Given the description of an element on the screen output the (x, y) to click on. 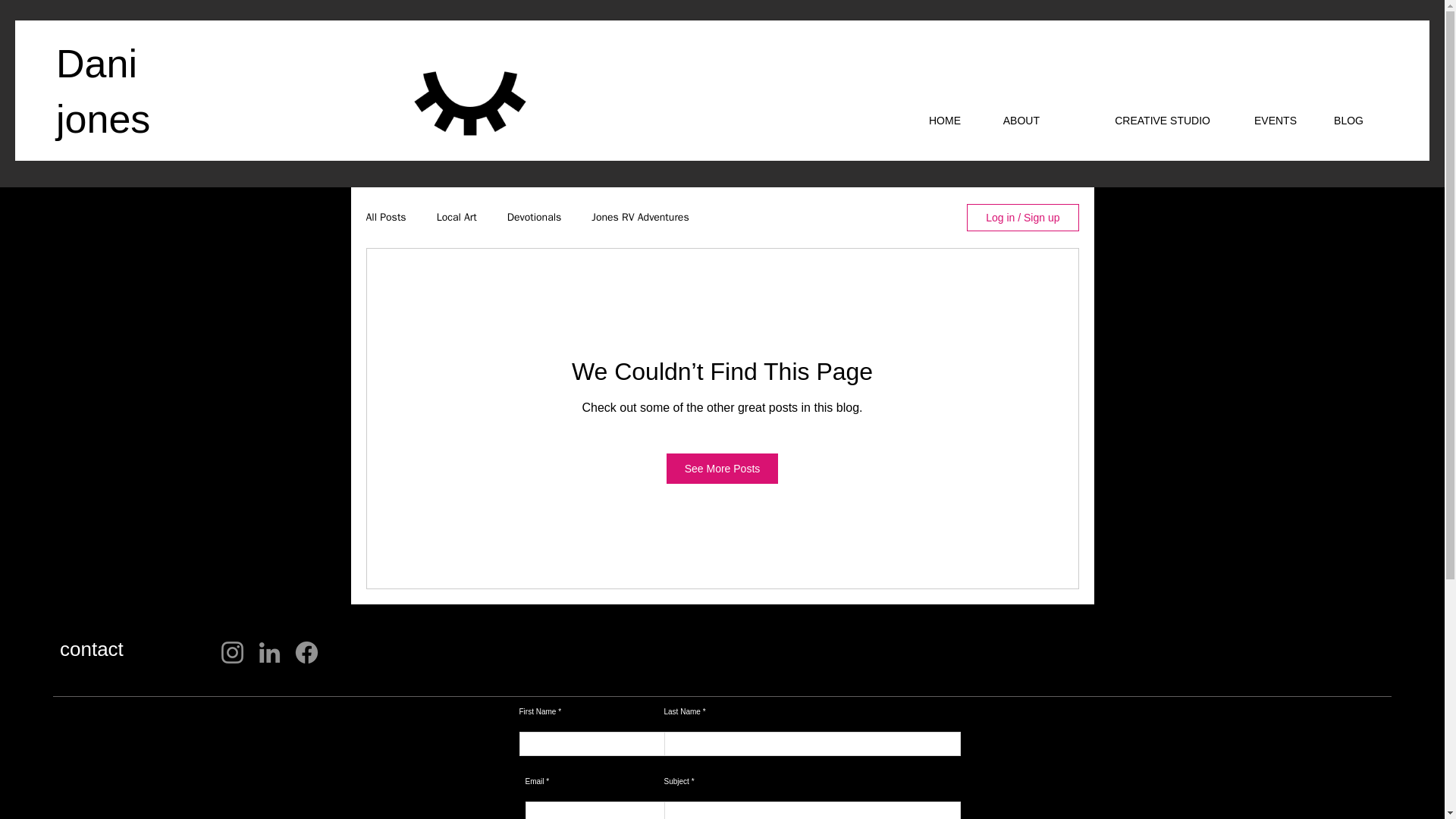
ABOUT (1011, 120)
Dani (96, 63)
Jones RV Adventures (639, 217)
Local Art (456, 217)
HOME (937, 120)
CREATIVE STUDIO (1136, 120)
See More Posts (722, 468)
All Posts (385, 217)
BLOG (1340, 120)
Devotionals (534, 217)
EVENTS (1264, 120)
